Given the description of an element on the screen output the (x, y) to click on. 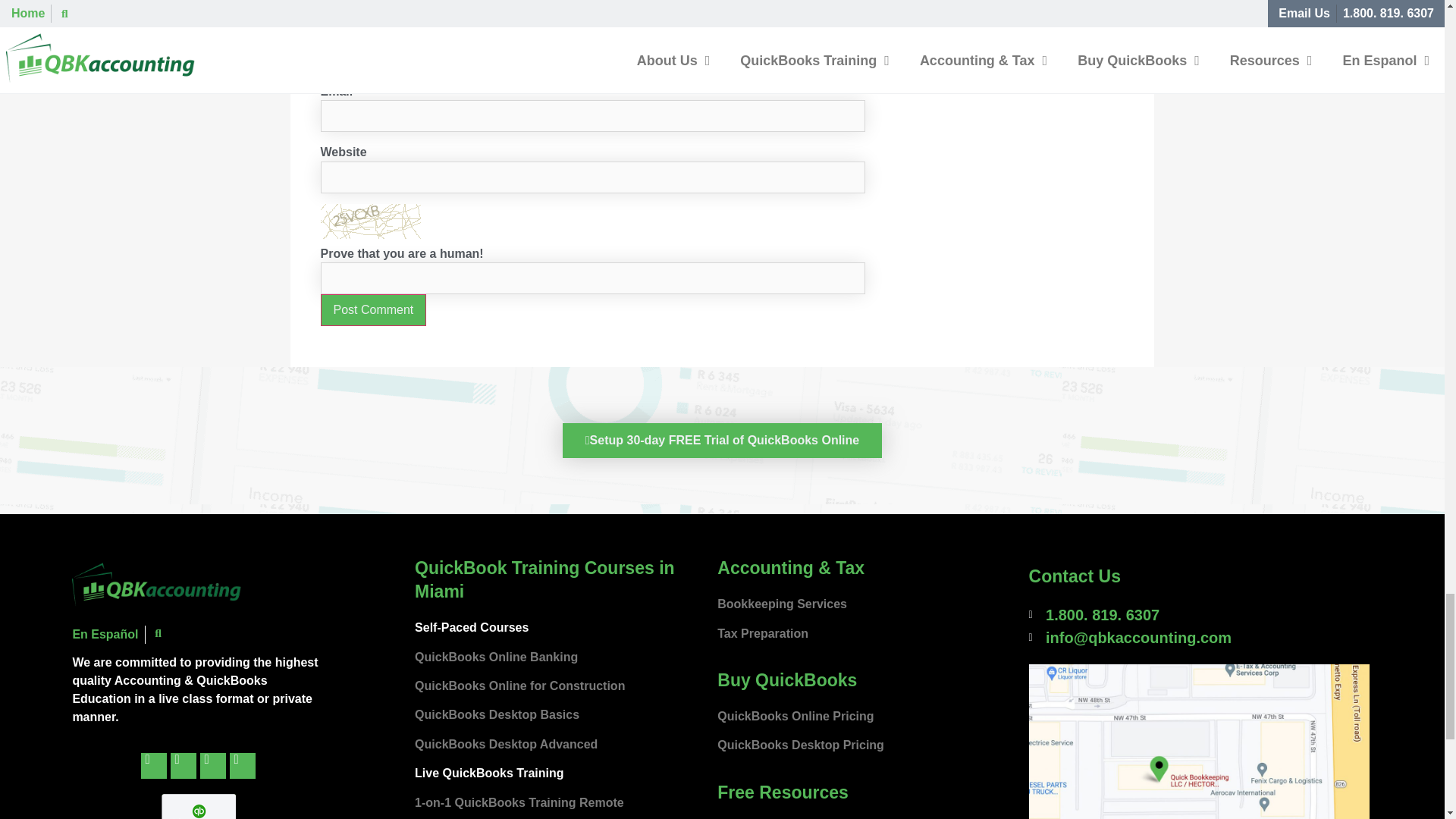
Post Comment (373, 309)
